Given the description of an element on the screen output the (x, y) to click on. 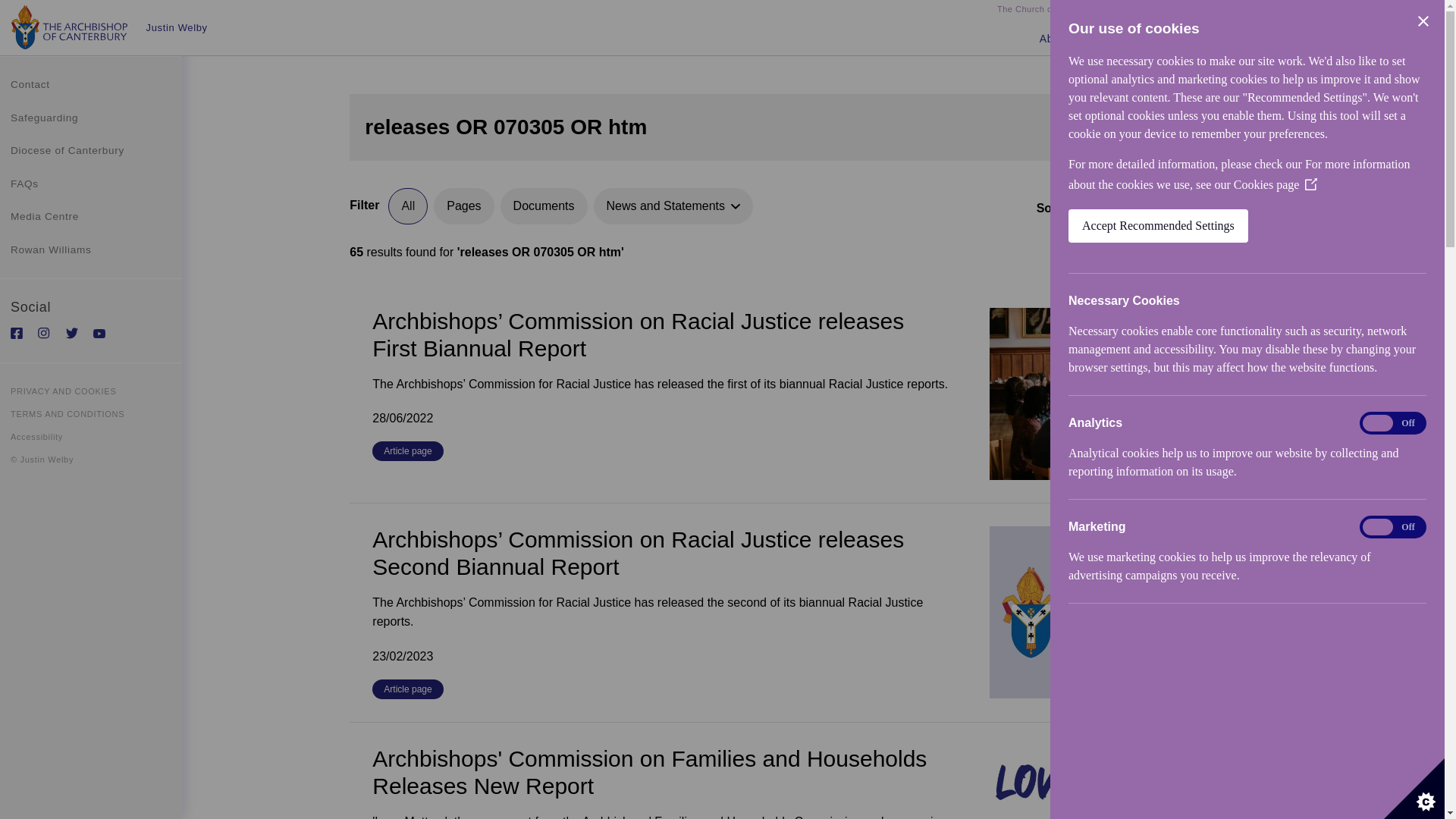
Home (69, 26)
Search (1212, 127)
The Church of England (1043, 10)
A Church Near You (1144, 10)
Details of our website accessibility (91, 436)
releases OR 070305 OR htm (748, 127)
About (1055, 39)
The Archbishop of Canterbury (1259, 10)
The Archbishop of York (1382, 10)
